Given the description of an element on the screen output the (x, y) to click on. 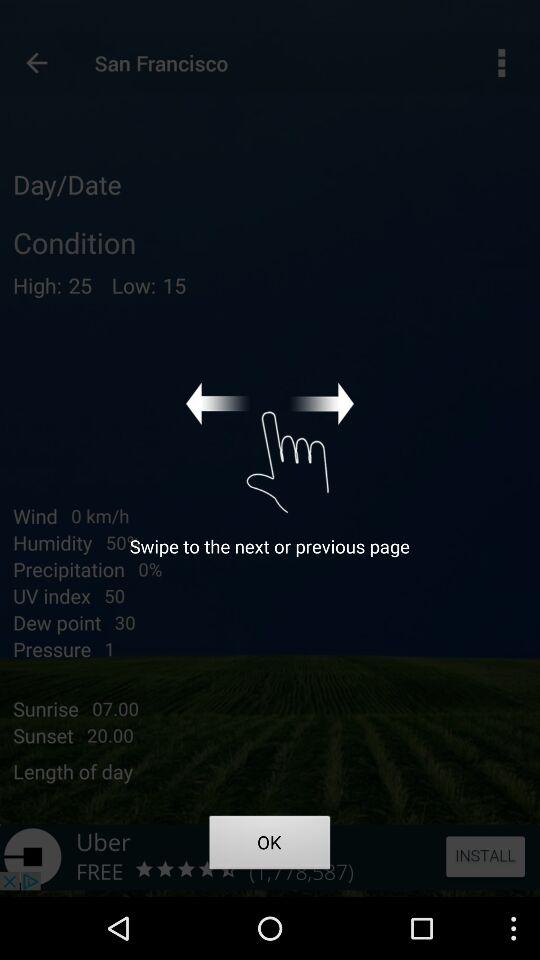
open the ok item (269, 845)
